Given the description of an element on the screen output the (x, y) to click on. 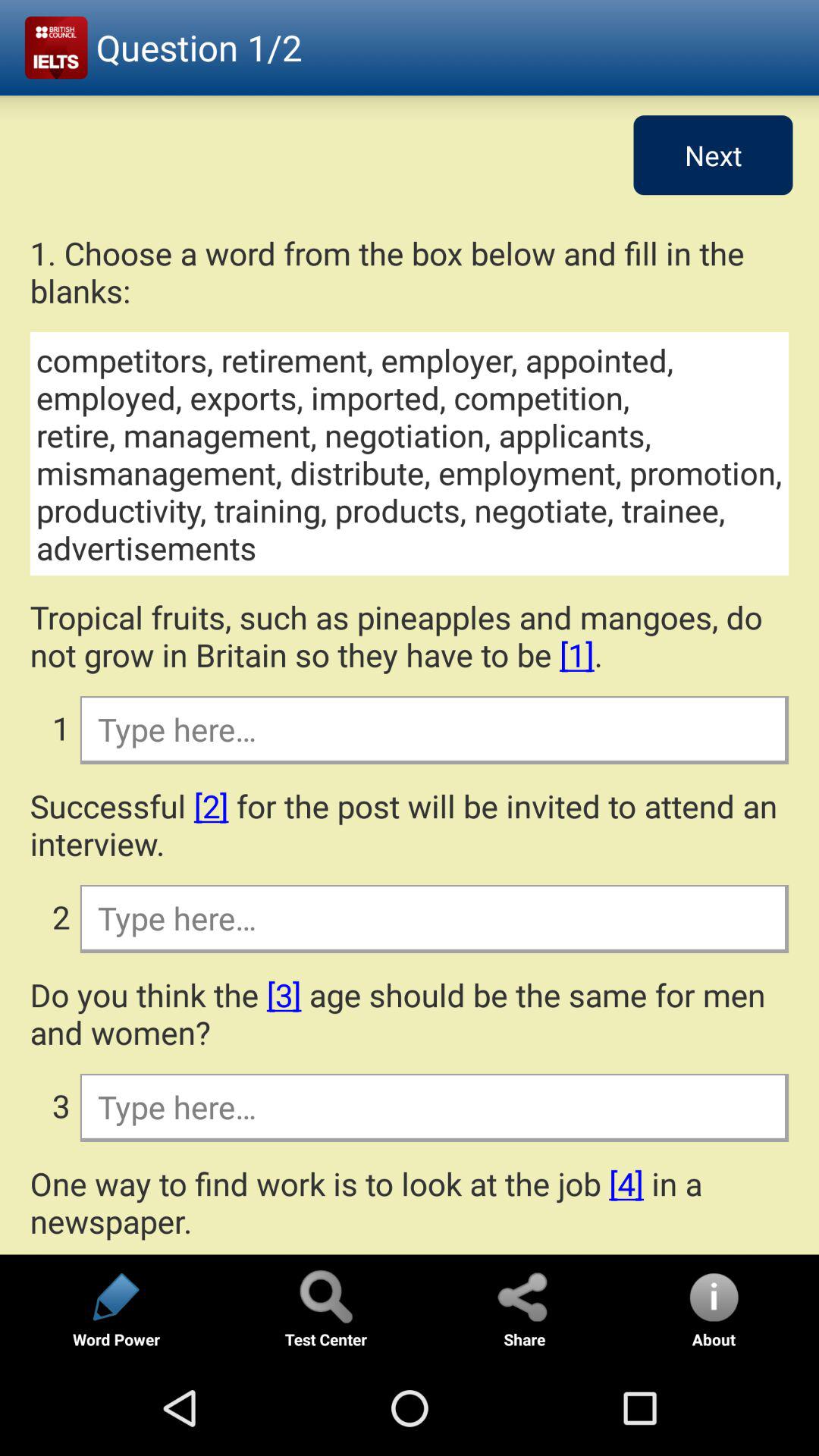
type answer in the box (432, 1106)
